Given the description of an element on the screen output the (x, y) to click on. 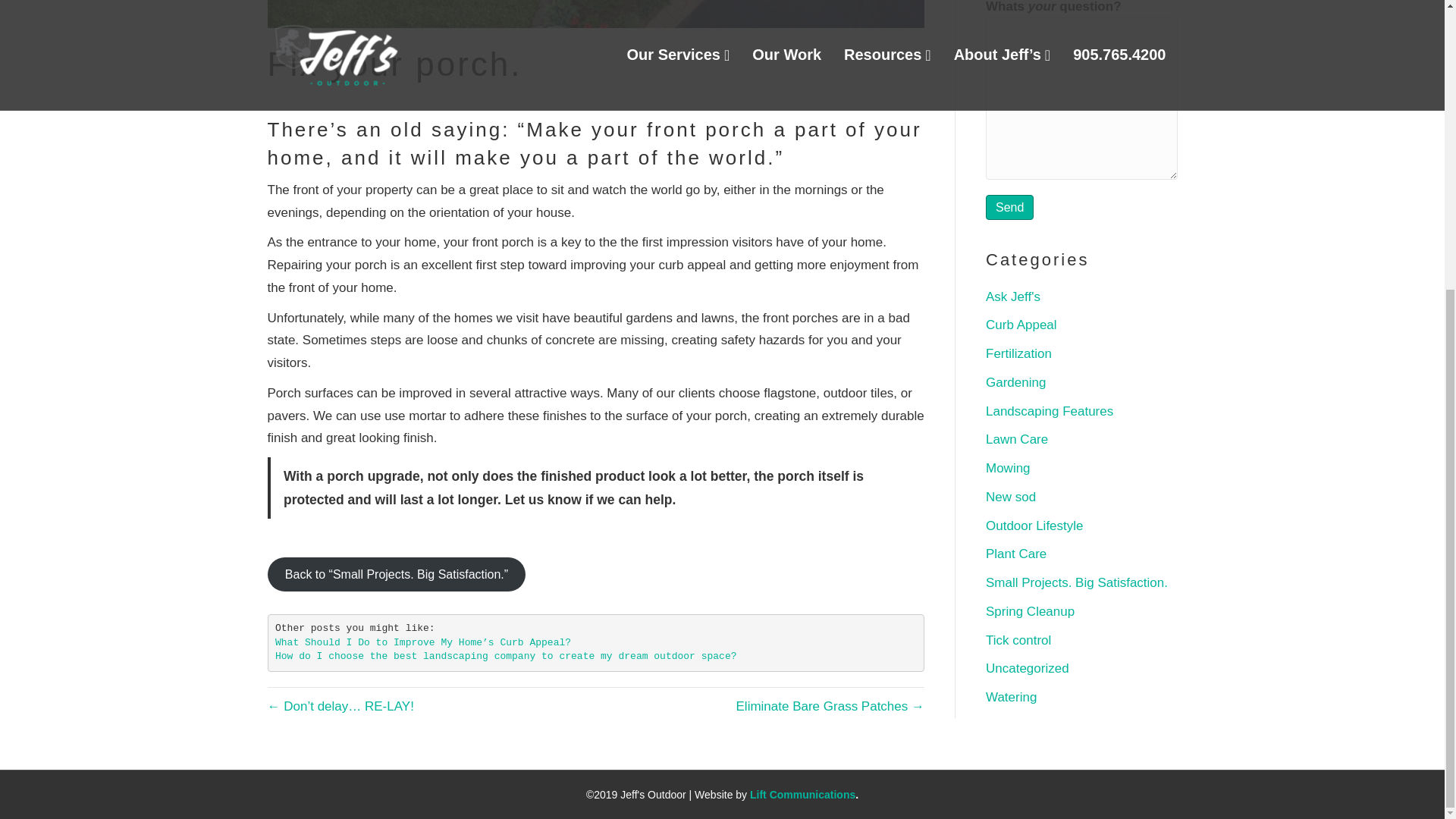
Spring Cleanup (1029, 611)
Ask Jeff's (1013, 296)
Watering (1010, 697)
Send (1009, 207)
New sod (1010, 496)
Lift Communications (802, 794)
Landscaping Features (1049, 411)
Curb Appeal (1021, 324)
Tick control (1018, 640)
Lawn Care (1016, 439)
